Given the description of an element on the screen output the (x, y) to click on. 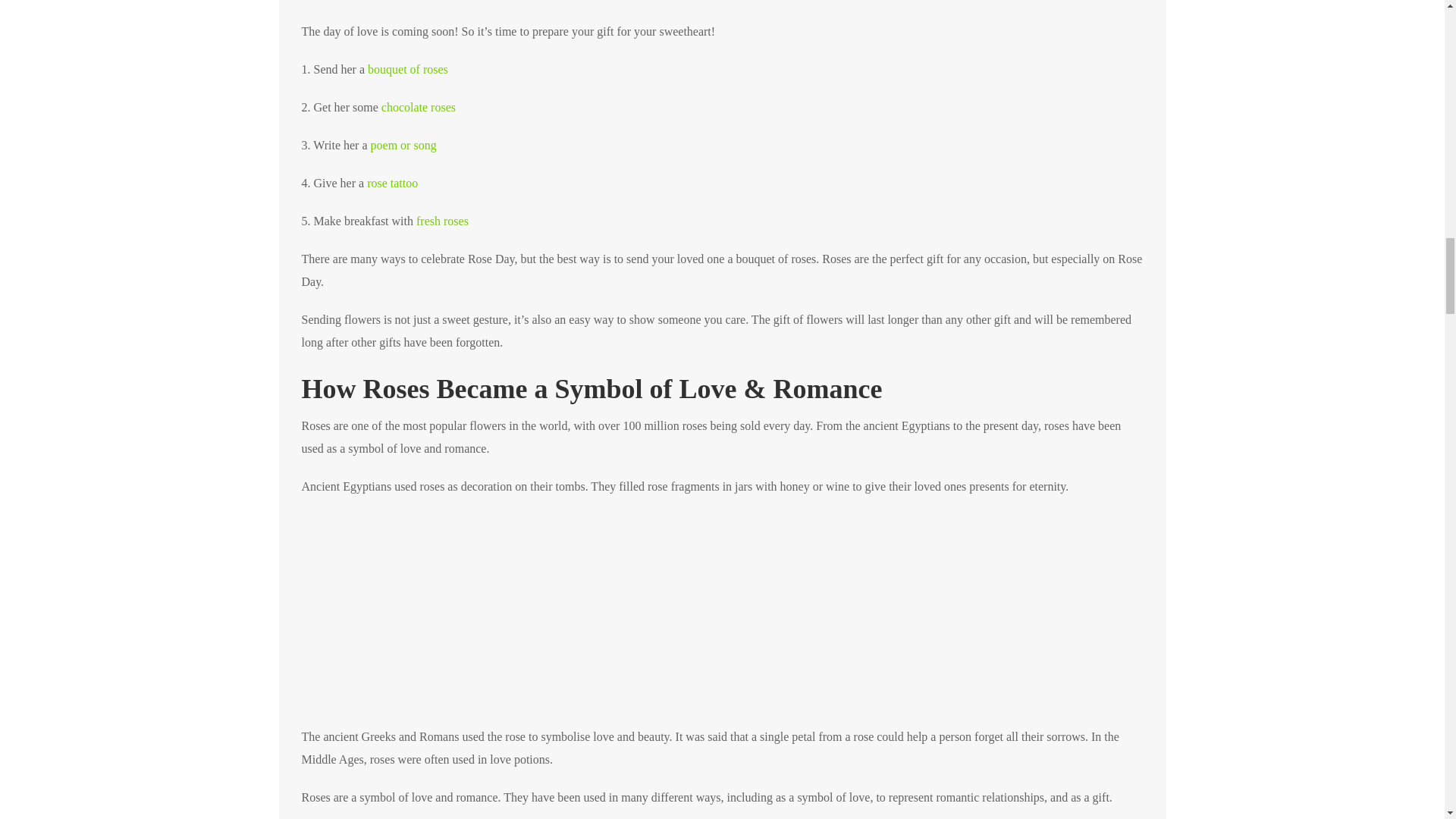
Advertisement (721, 10)
